Given the description of an element on the screen output the (x, y) to click on. 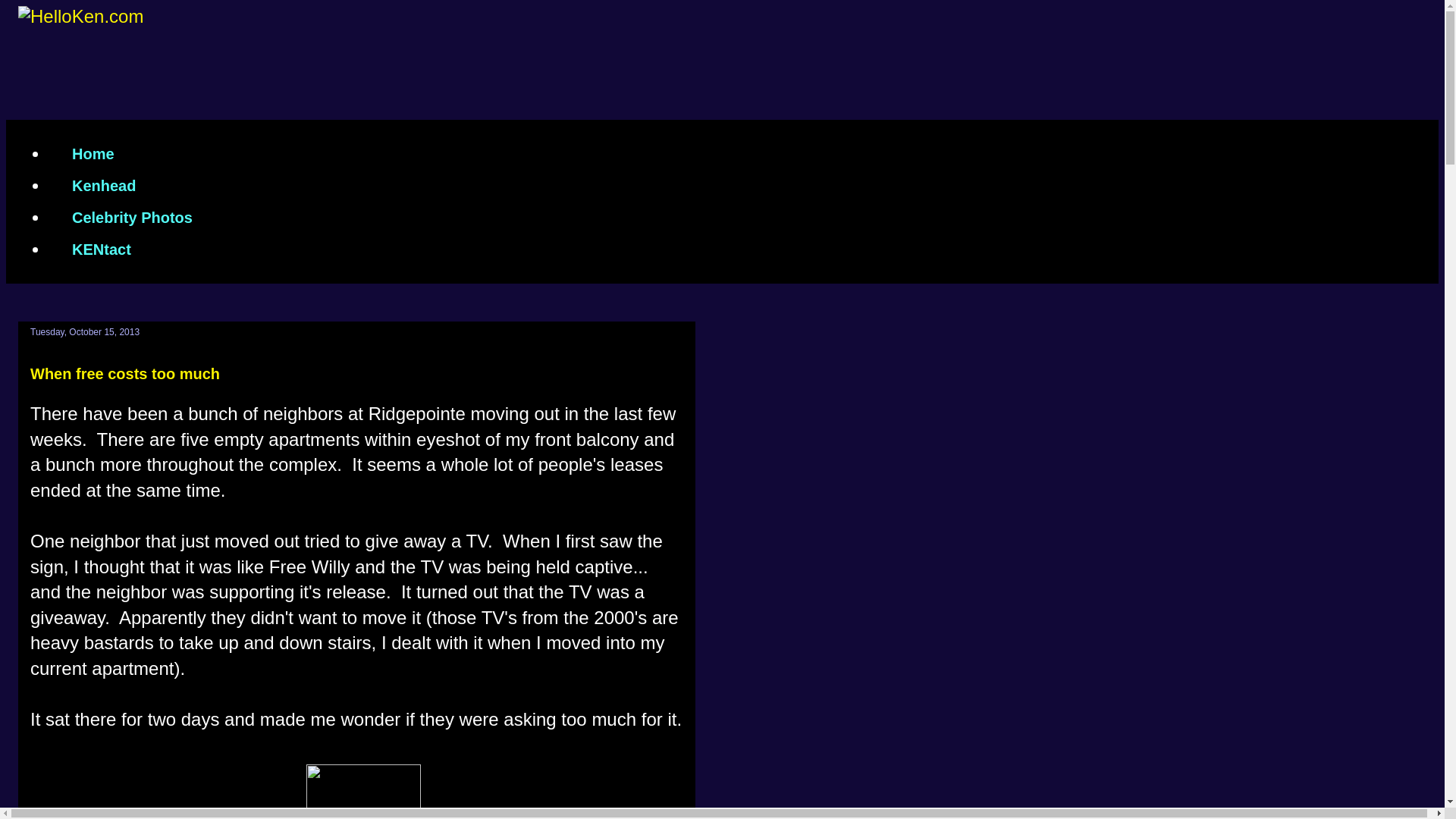
Kenhead (103, 185)
KENtact (101, 249)
Celebrity Photos (131, 217)
Home (92, 153)
